Given the description of an element on the screen output the (x, y) to click on. 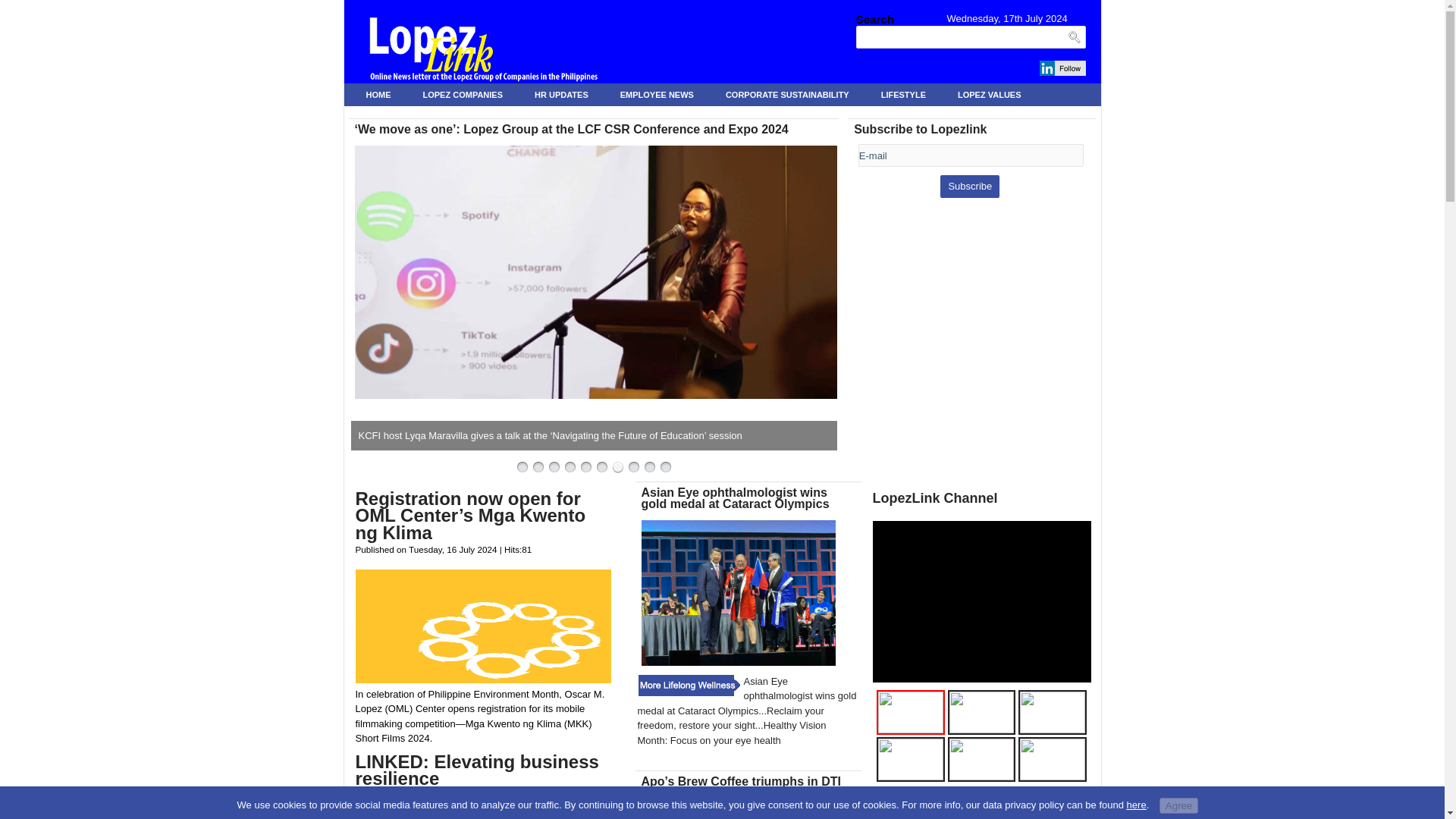
E-mail (971, 155)
EMPLOYEE NEWS (656, 94)
LIFESTYLE (903, 94)
LINKED: Elevating business resilience (483, 767)
HR UPDATES (561, 94)
CORPORATE SUSTAINABILITY (787, 94)
Subscribe (969, 186)
HOME (378, 94)
E-mail (971, 155)
LOPEZ COMPANIES (462, 94)
LOPEZ VALUES (989, 94)
